Given the description of an element on the screen output the (x, y) to click on. 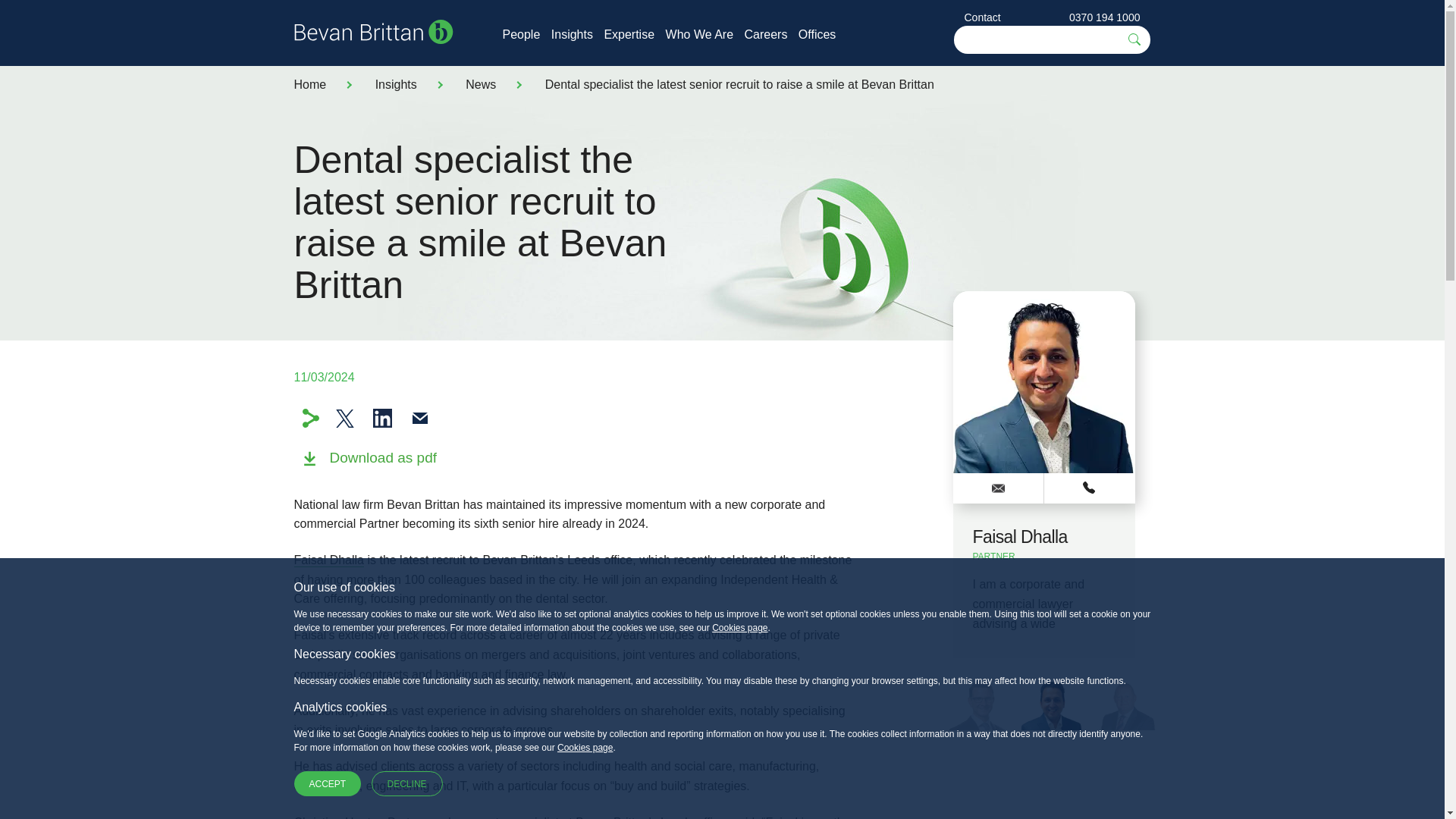
Home (310, 83)
Contact (982, 17)
Who We Are (699, 33)
Faisal Dhalla (329, 560)
Insights (395, 83)
Download as pdf (369, 469)
Careers (765, 33)
Christian Hunt (332, 817)
Christian Hunt (332, 817)
LinkedIn (381, 417)
Offices (816, 33)
Email (419, 417)
News (480, 83)
Expertise (628, 33)
